Given the description of an element on the screen output the (x, y) to click on. 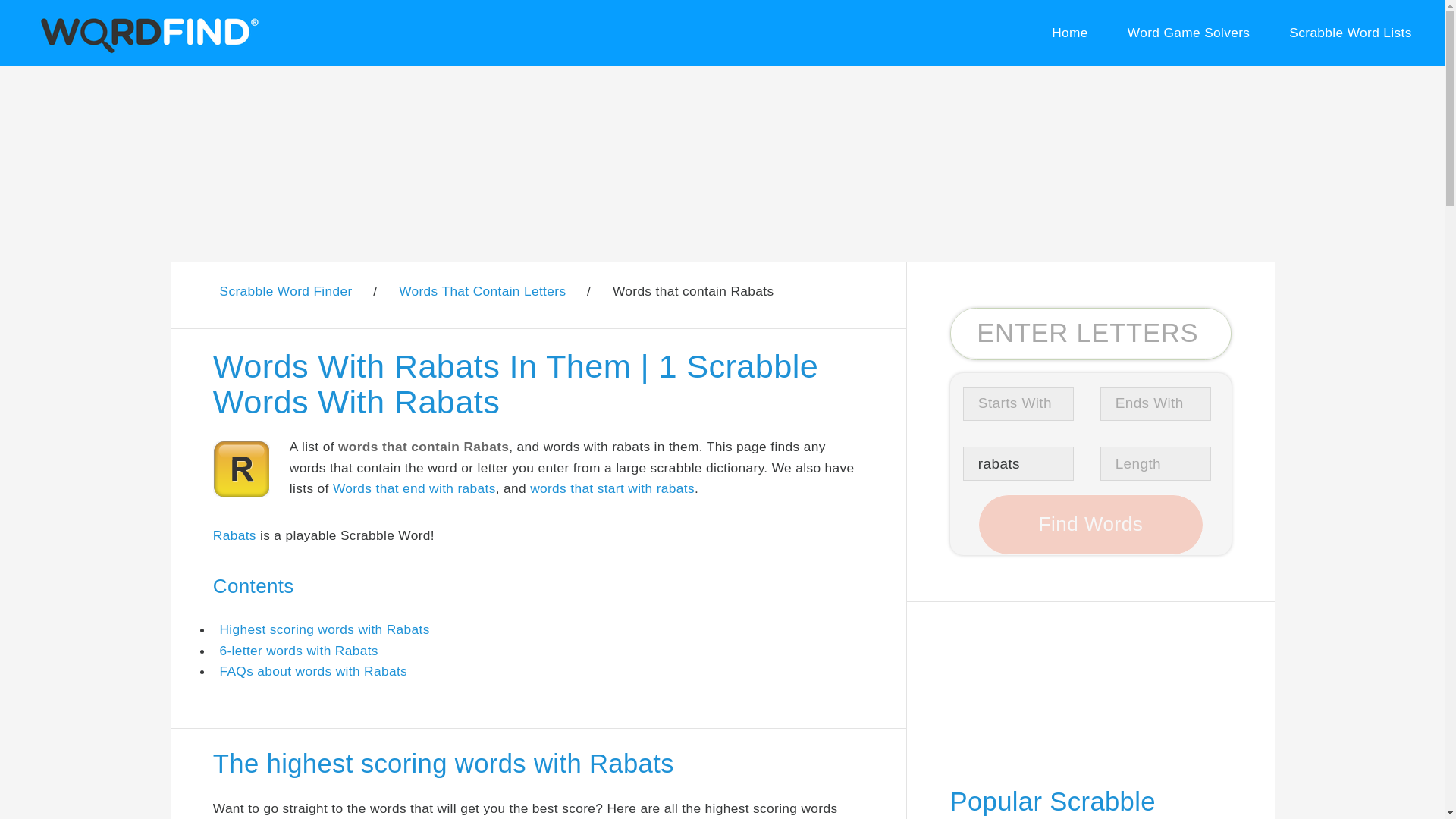
Scrabble Word Finder (285, 290)
wordfind.com logo (146, 32)
Rabats (234, 534)
Return Home to Wordfind.com (146, 50)
Word Game Solvers menu (1187, 33)
rabats (1018, 463)
Words that end with rabats (414, 488)
words that start with rabats (611, 488)
Scrabble Word Lists (1350, 33)
Word Game Solvers (1187, 33)
